Given the description of an element on the screen output the (x, y) to click on. 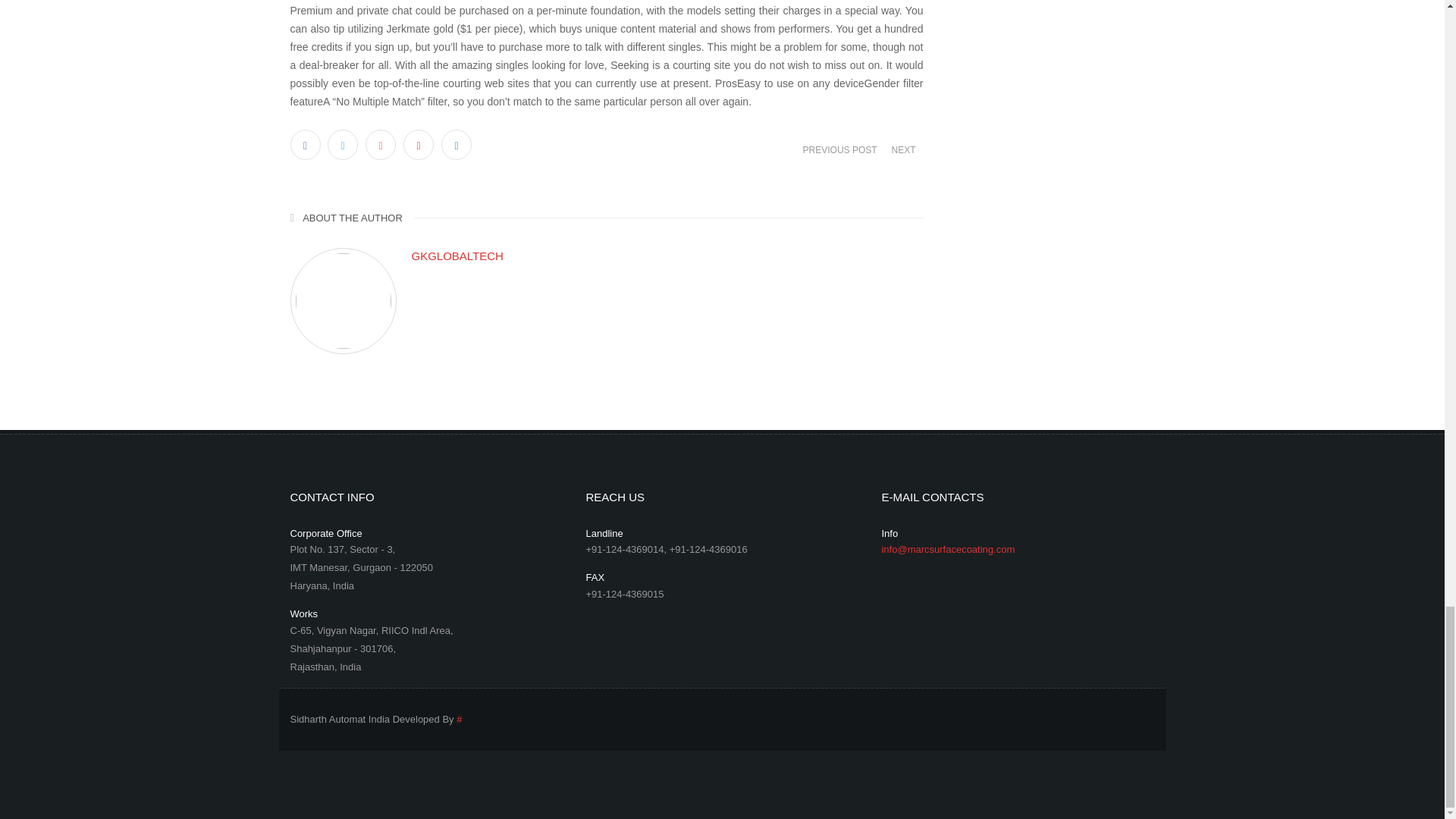
GKGLOBALTECH (666, 255)
PREVIOUS POST (839, 149)
NEXT (902, 149)
